Given the description of an element on the screen output the (x, y) to click on. 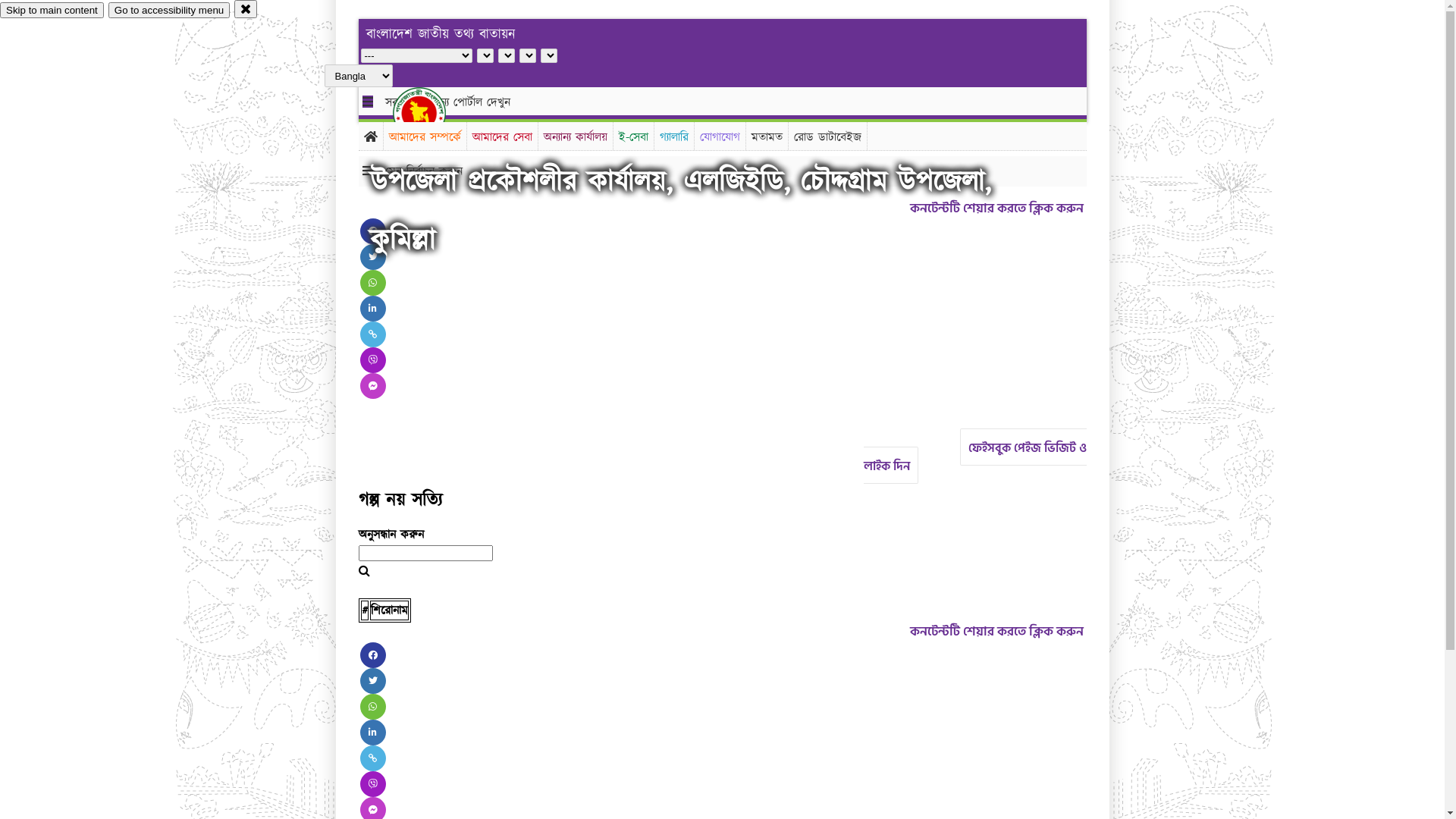
Skip to main content Element type: text (51, 10)
close Element type: hover (245, 9)

                
             Element type: hover (431, 112)
Go to accessibility menu Element type: text (168, 10)
